Given the description of an element on the screen output the (x, y) to click on. 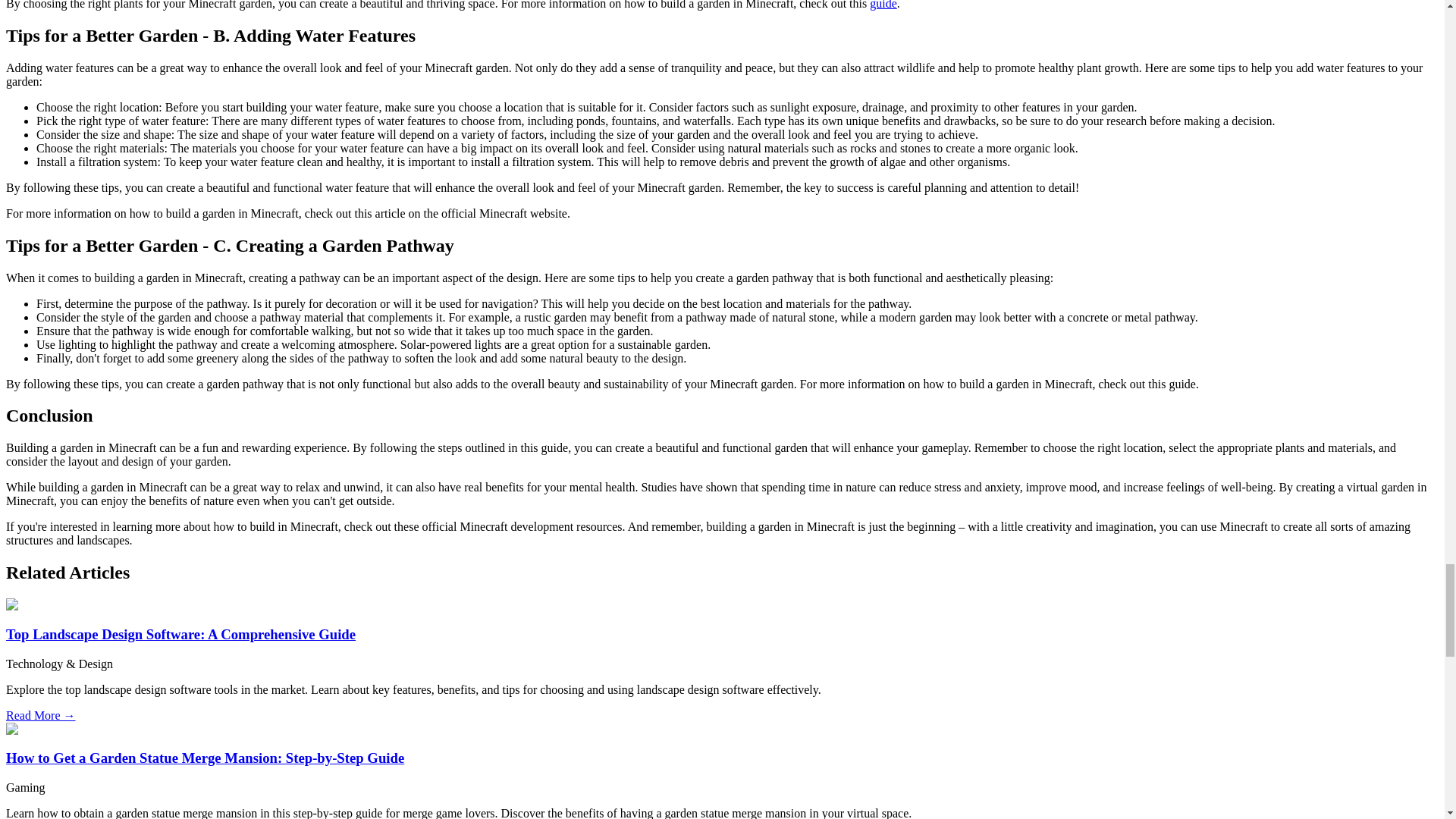
Top Landscape Design Software: A Comprehensive Guide (180, 634)
How to Get a Garden Statue Merge Mansion: Step-by-Step Guide (204, 757)
guide (882, 4)
